Given the description of an element on the screen output the (x, y) to click on. 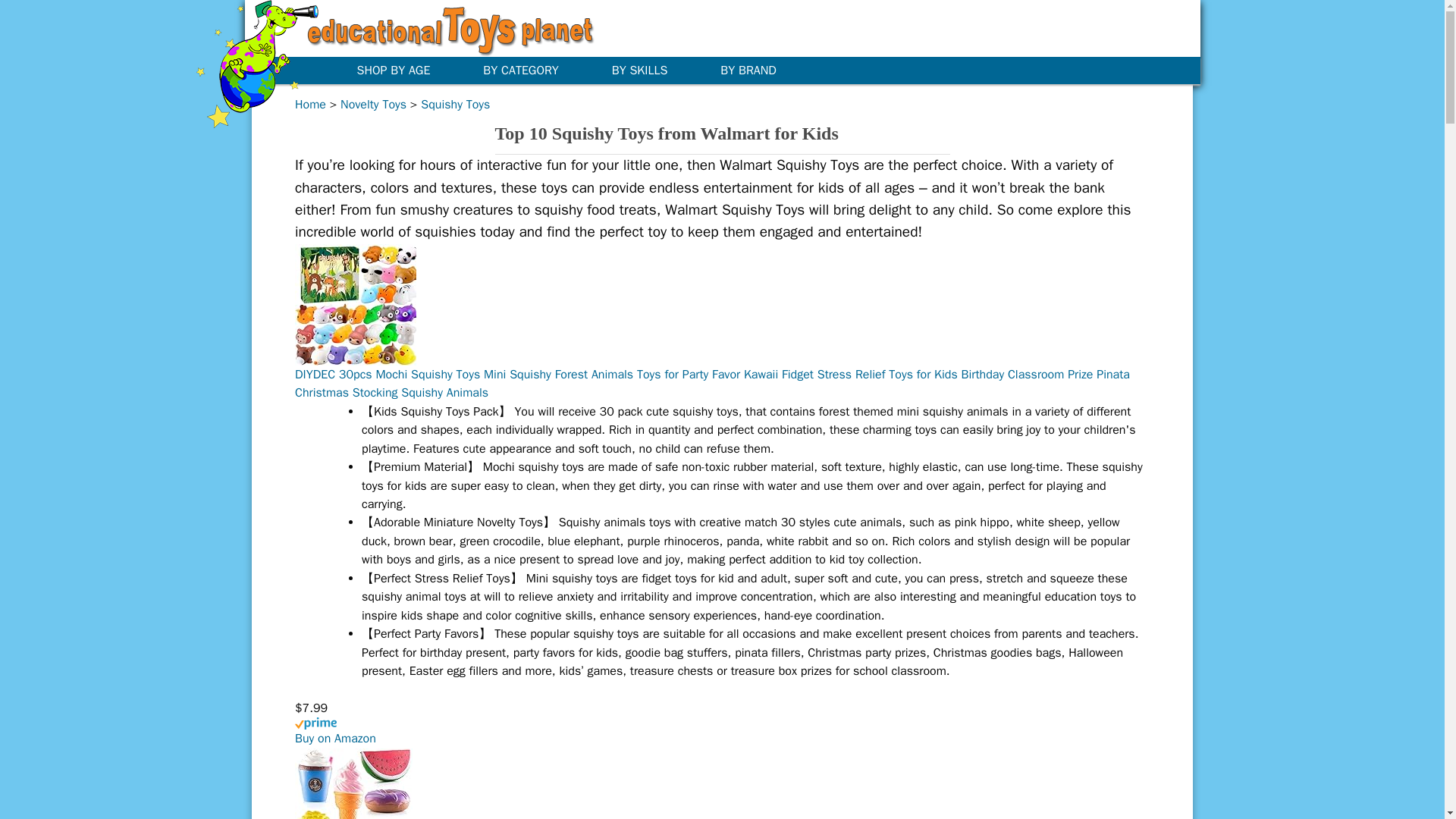
SHOP BY AGE (403, 70)
Squishy Toys (454, 104)
Buy on Amazon (335, 738)
Home (310, 104)
Buy on Amazon (335, 738)
BY CATEGORY (531, 70)
Novelty Toys (373, 104)
Amazon Prime (722, 731)
BY BRAND (758, 70)
BY SKILLS (651, 70)
